Given the description of an element on the screen output the (x, y) to click on. 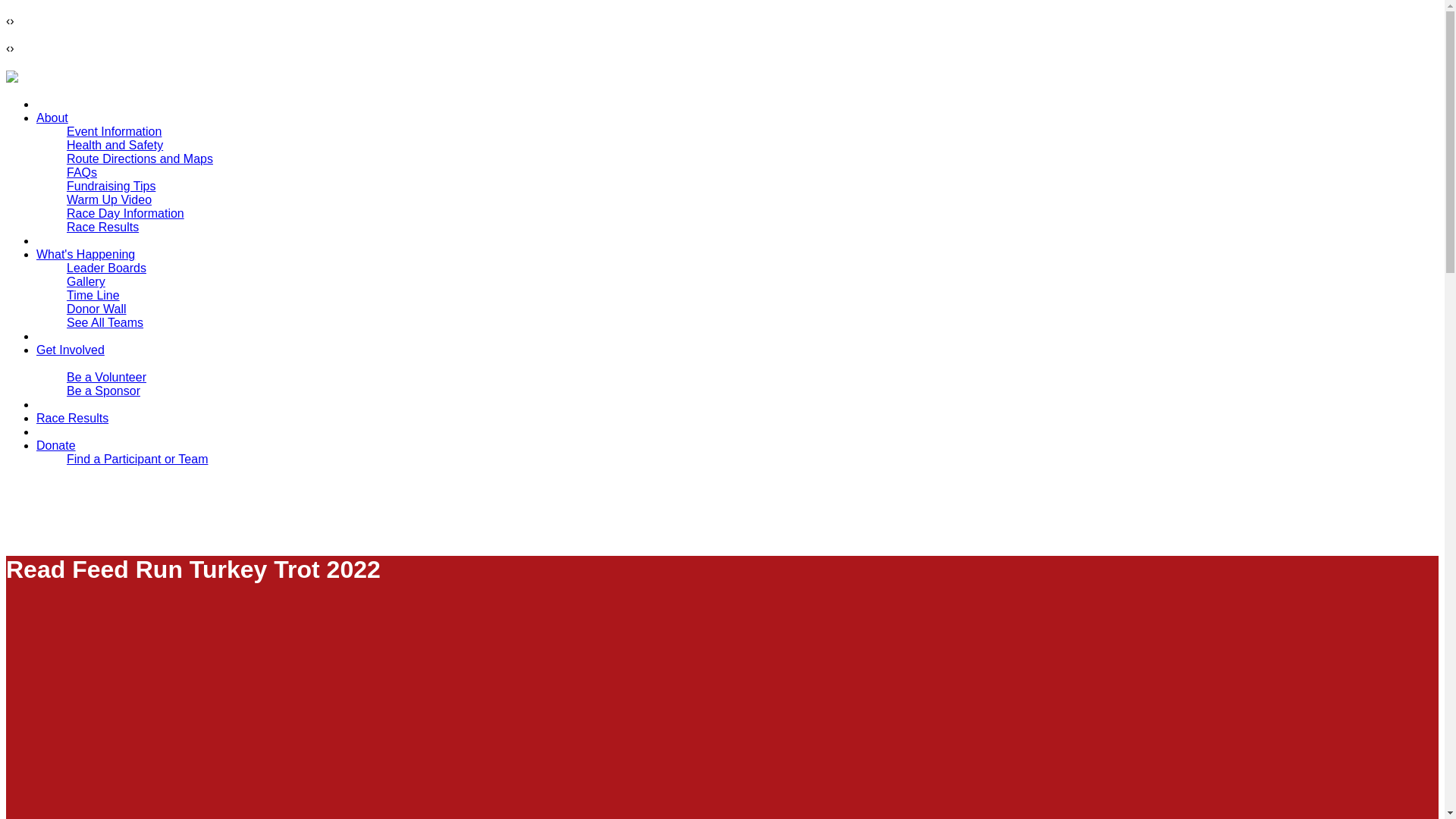
Make a General Donation (135, 472)
Gallery (85, 281)
Fundraising Tips (110, 185)
About (52, 117)
Leader Boards (106, 267)
Donate (55, 445)
Find a Participant or Team (137, 459)
Event Information (113, 131)
Race Results (71, 418)
Race Results (102, 226)
Donor Wall (96, 308)
Route Directions and Maps (139, 158)
Get Involved (70, 349)
See All Teams (104, 322)
What's Happening (85, 254)
